Given the description of an element on the screen output the (x, y) to click on. 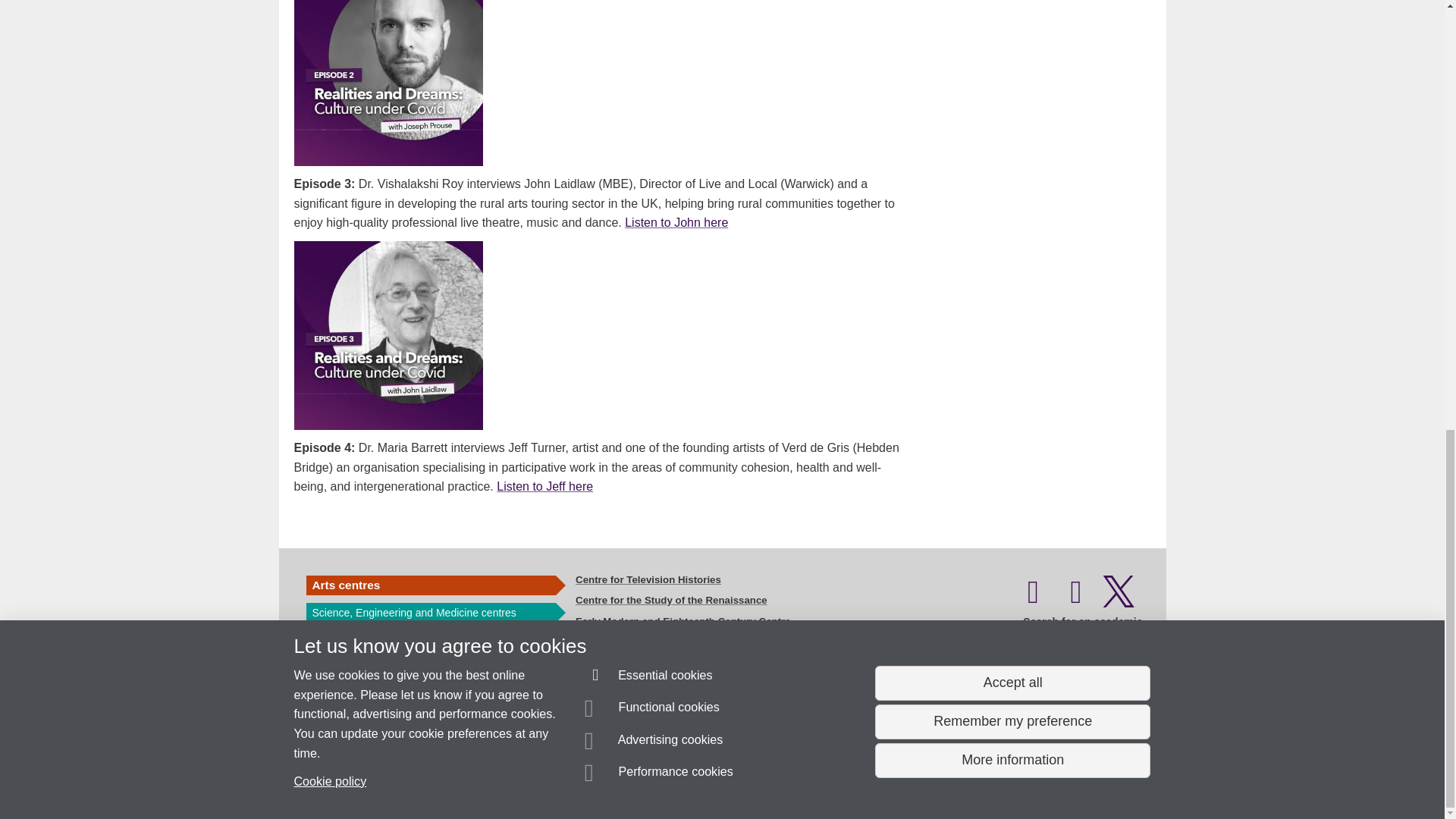
University of Warwick on Twitter (1118, 598)
University of Warwick on YouTube (1076, 598)
More information about SiteBuilder (365, 780)
Copyright Statement (514, 780)
Privacy notice (673, 780)
Information about cookies (467, 780)
Terms of use (708, 780)
Send an email to Ura Martin (373, 751)
University of Warwick on Facebook (1032, 598)
